Given the description of an element on the screen output the (x, y) to click on. 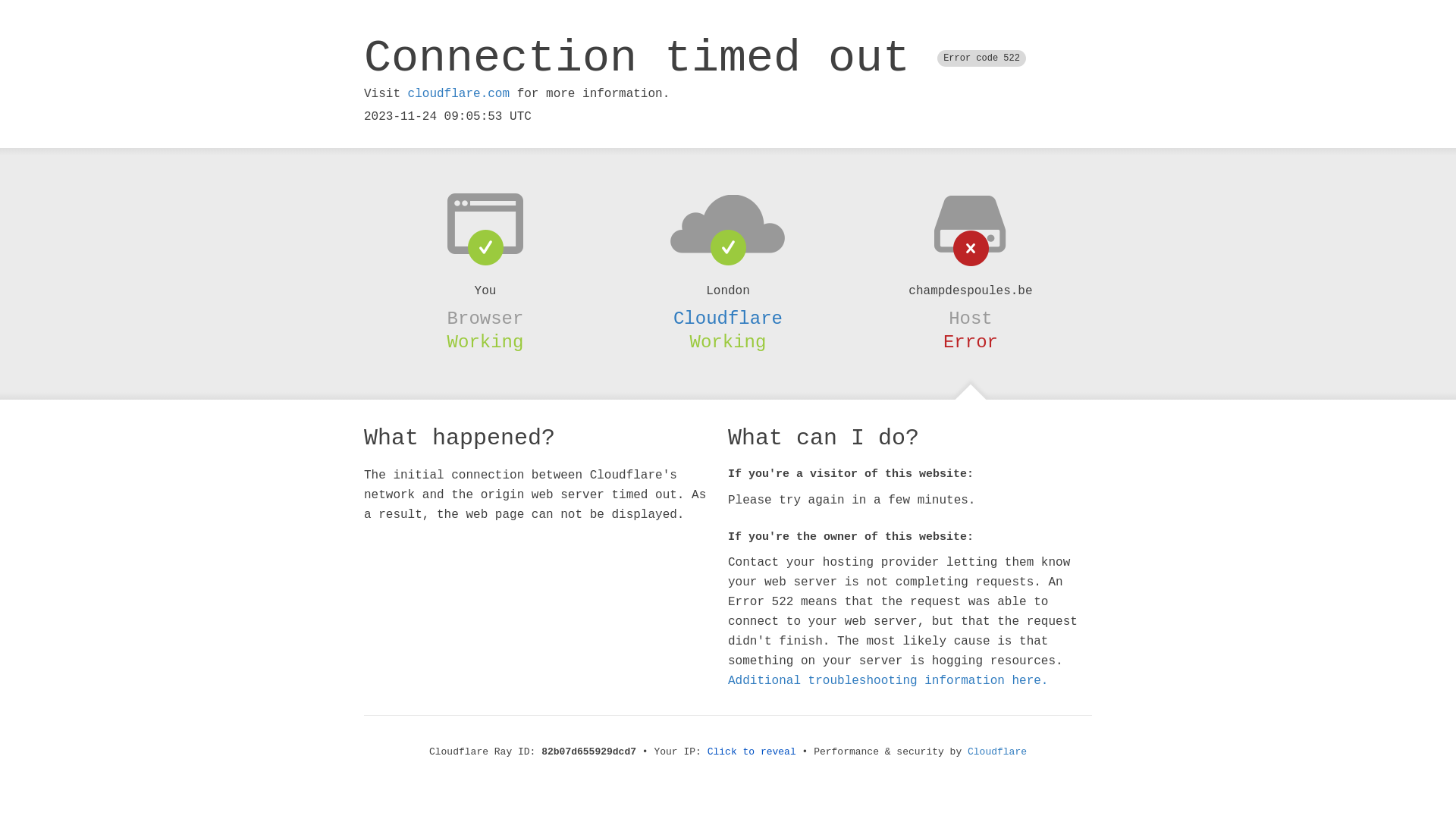
Cloudflare Element type: text (727, 318)
Cloudflare Element type: text (996, 751)
cloudflare.com Element type: text (458, 93)
Additional troubleshooting information here. Element type: text (888, 680)
Click to reveal Element type: text (751, 751)
